Given the description of an element on the screen output the (x, y) to click on. 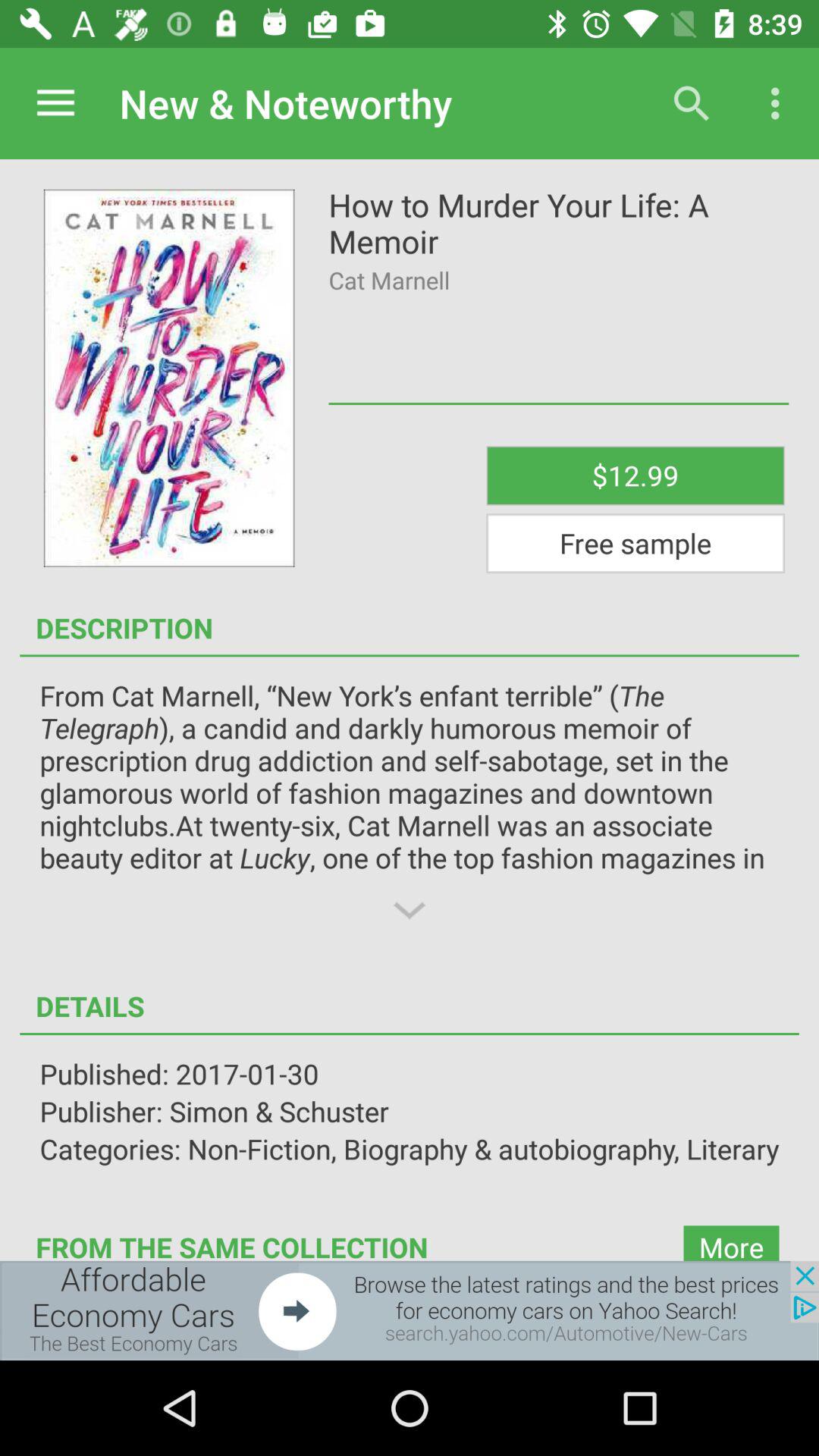
go back (409, 1310)
